Given the description of an element on the screen output the (x, y) to click on. 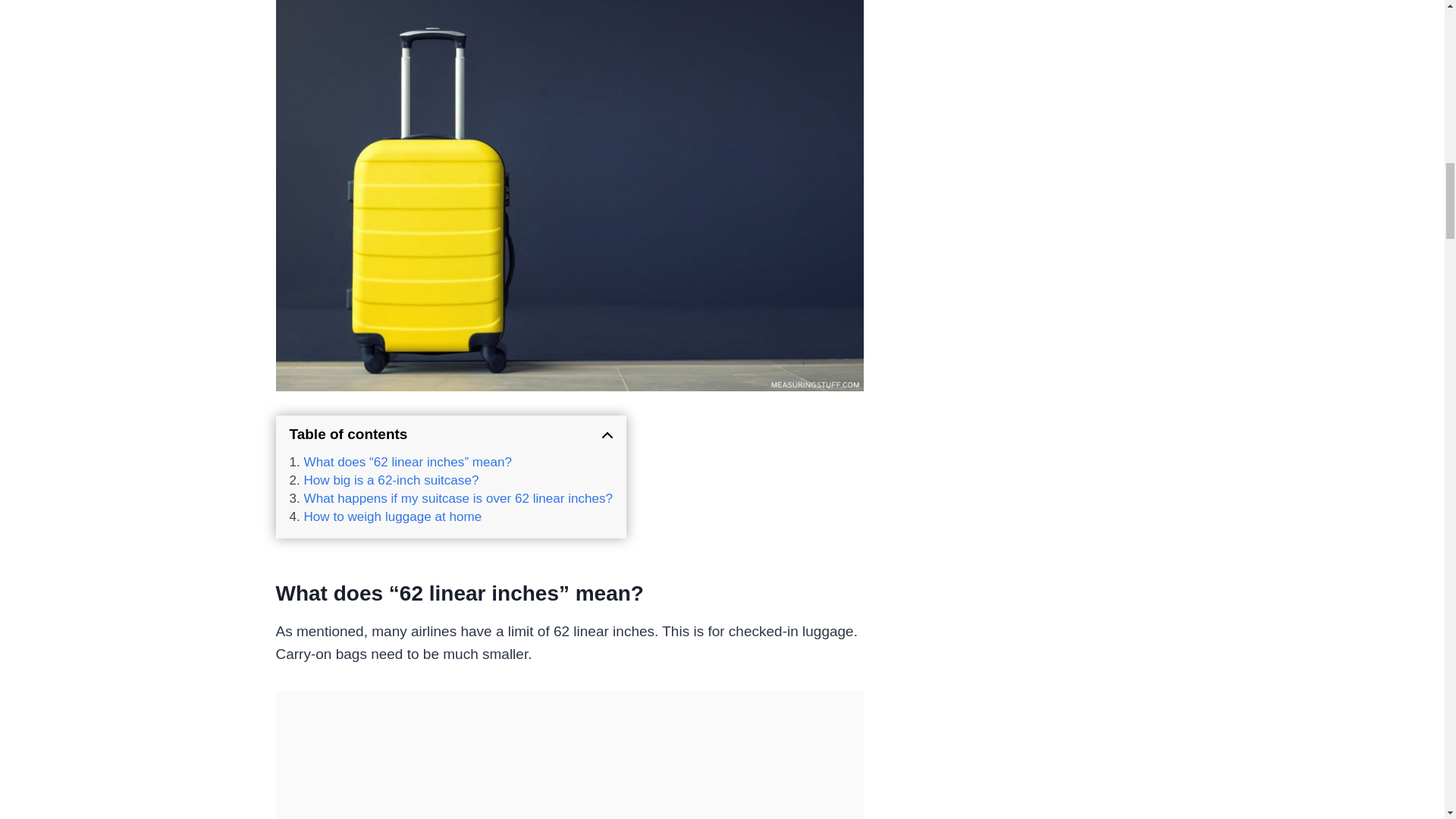
What happens if my suitcase is over 62 linear inches? (450, 498)
How to weigh luggage at home (385, 516)
How big is a 62-inch suitcase? (384, 480)
How big is a 62-inch suitcase? (384, 480)
What happens if my suitcase is over 62 linear inches? (450, 498)
How to weigh luggage at home (385, 516)
